Given the description of an element on the screen output the (x, y) to click on. 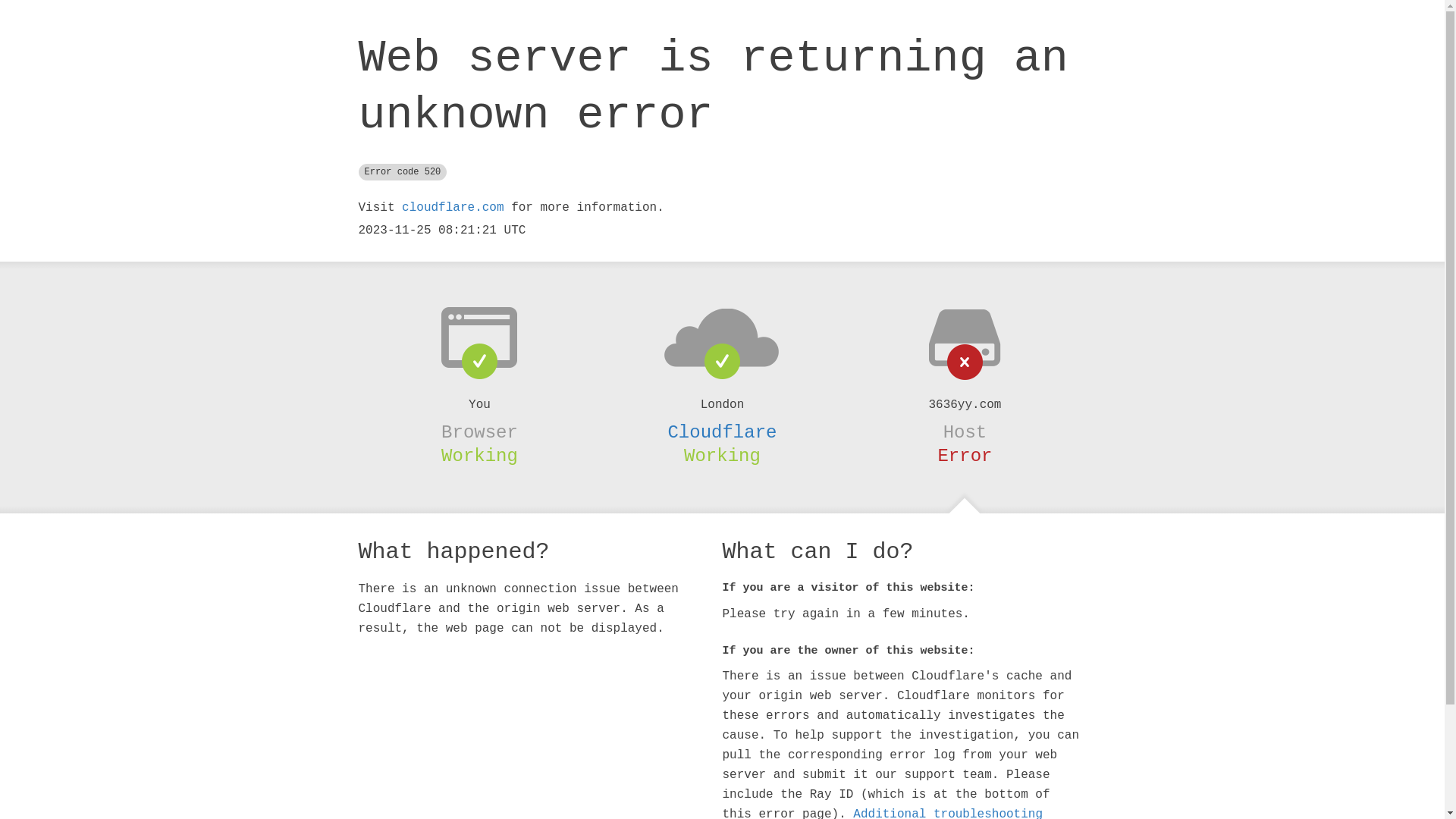
cloudflare.com Element type: text (452, 207)
Cloudflare Element type: text (721, 432)
